Given the description of an element on the screen output the (x, y) to click on. 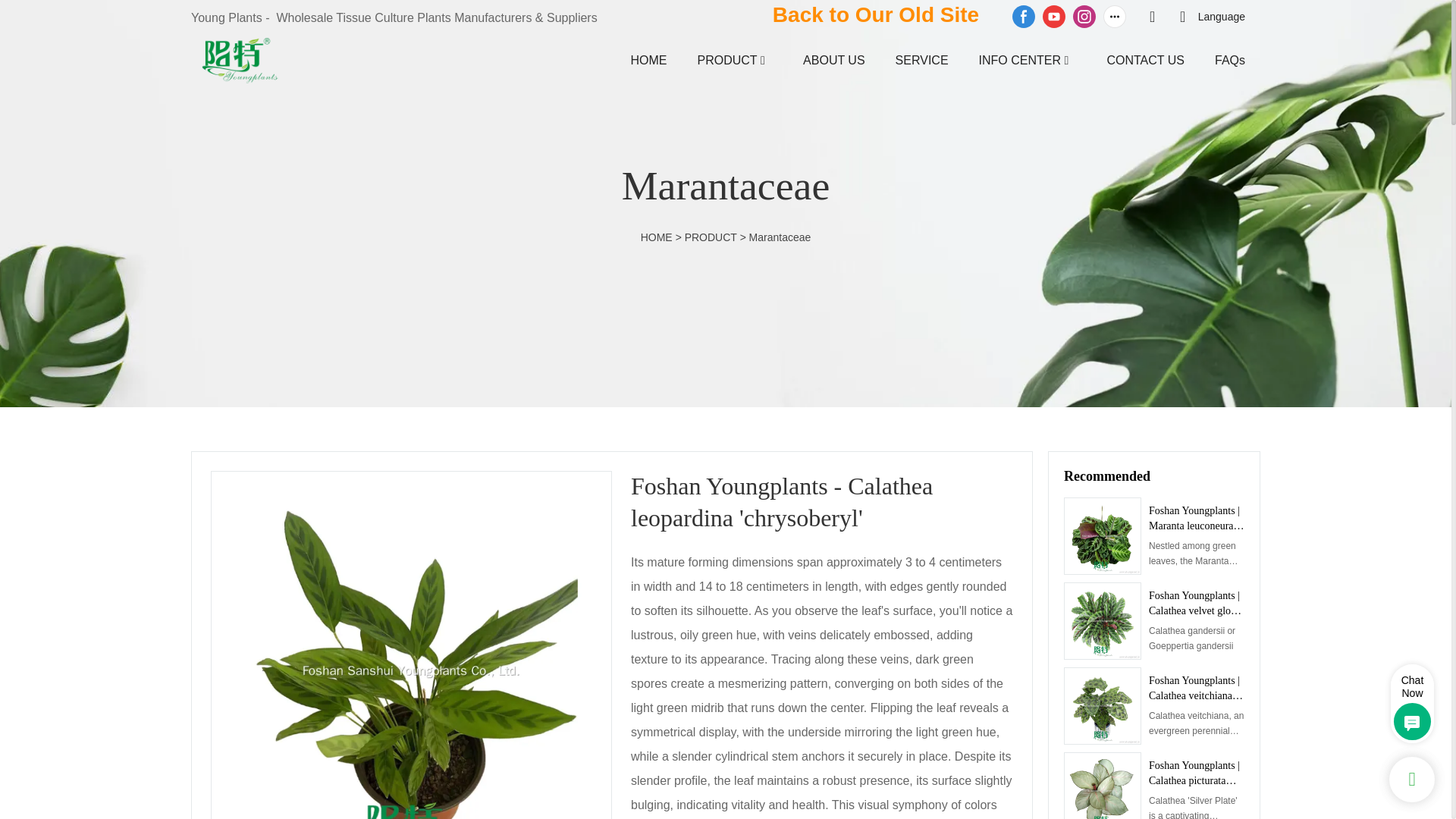
Back to Our Old Site (875, 14)
PRODUCT (727, 59)
youtube (1053, 16)
instagram (1083, 16)
facebook (1024, 16)
HOME (648, 59)
